Given the description of an element on the screen output the (x, y) to click on. 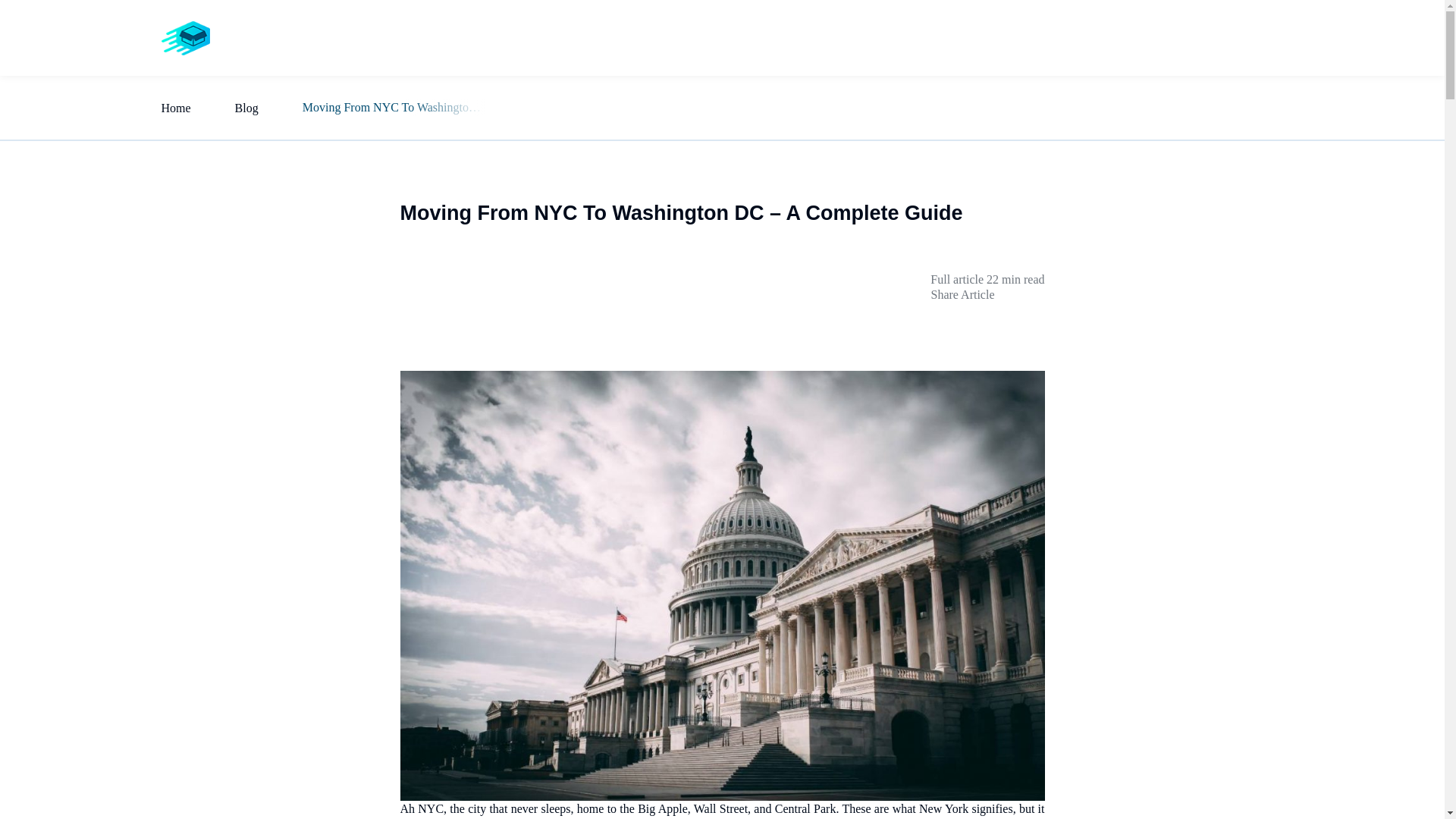
About us (1195, 37)
Home (1136, 37)
Blog (1251, 37)
Home (175, 108)
Blog (246, 108)
